Given the description of an element on the screen output the (x, y) to click on. 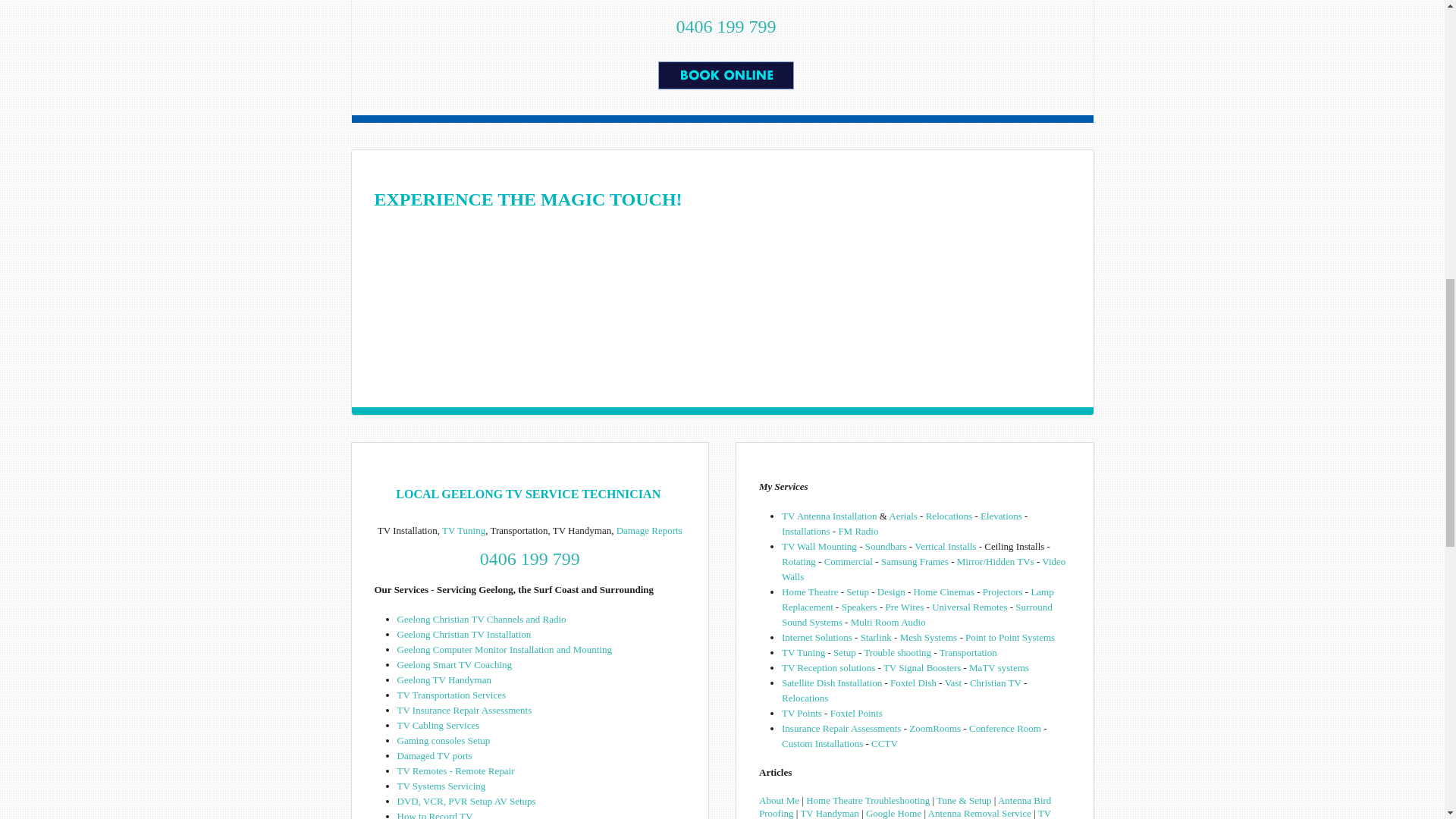
YouTube video player (721, 291)
